Given the description of an element on the screen output the (x, y) to click on. 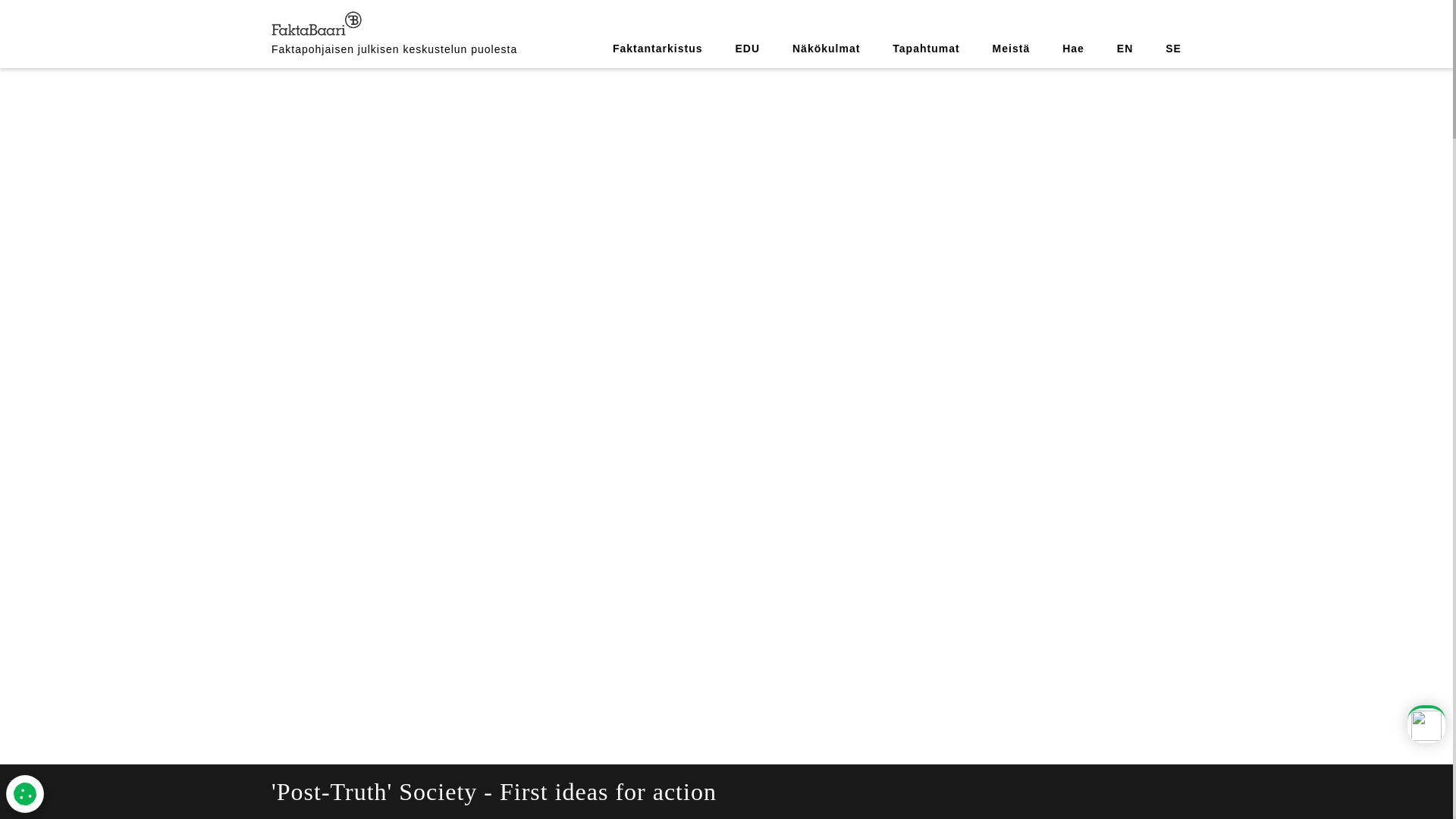
Hae (1073, 48)
Tapahtumat (925, 48)
EN (1124, 48)
SE (1173, 48)
Faktantarkistus (656, 48)
EDU (747, 48)
